Given the description of an element on the screen output the (x, y) to click on. 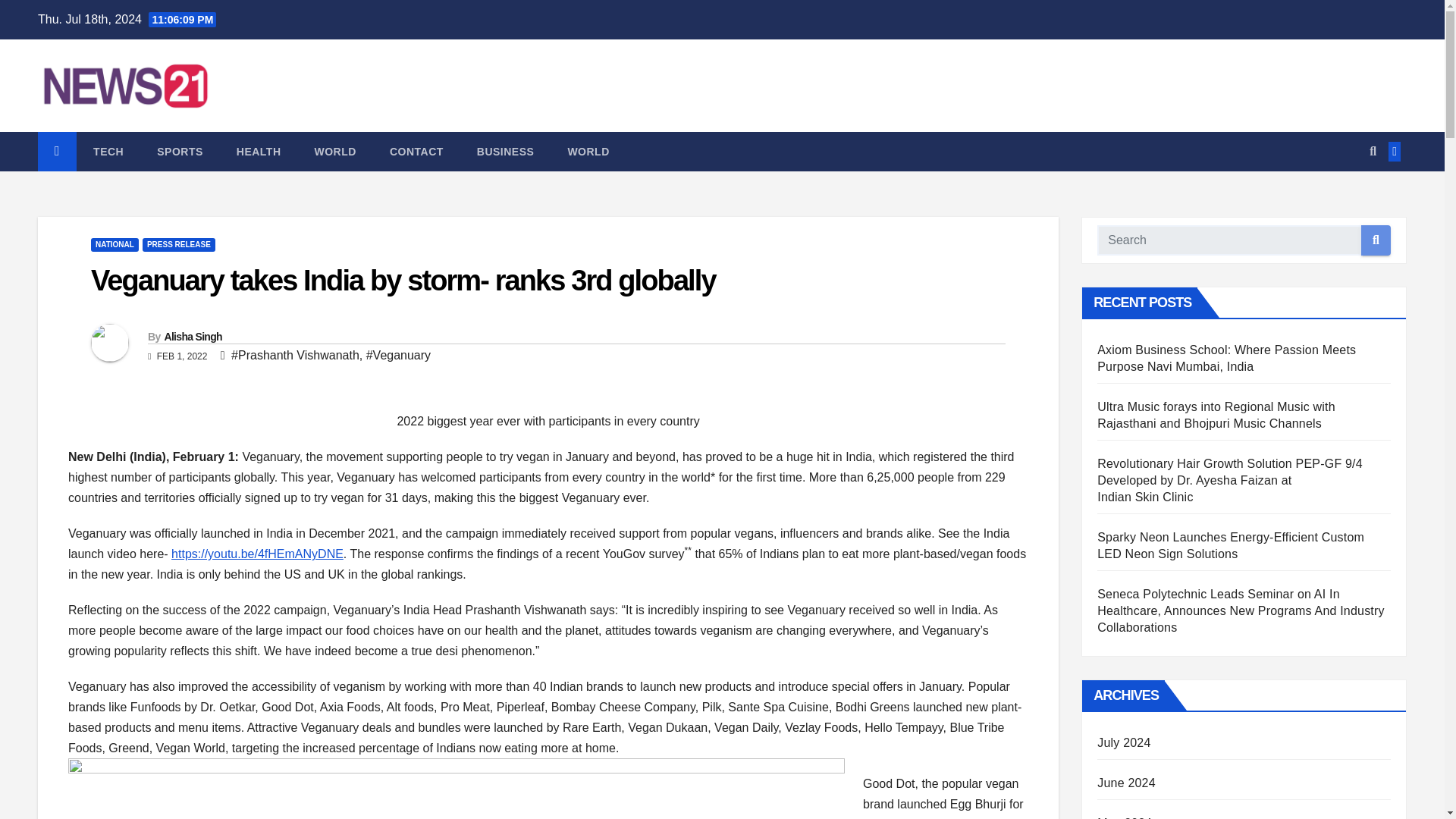
SPORTS (179, 151)
NATIONAL (114, 244)
WORLD (335, 151)
WORLD (588, 151)
CONTACT (416, 151)
Health (258, 151)
BUSINESS (505, 151)
Veganuary takes India by storm- ranks 3rd globally (403, 280)
HEALTH (258, 151)
Contact (416, 151)
PRESS RELEASE (178, 244)
Tech (108, 151)
Alisha Singh (192, 336)
Business (505, 151)
